Given the description of an element on the screen output the (x, y) to click on. 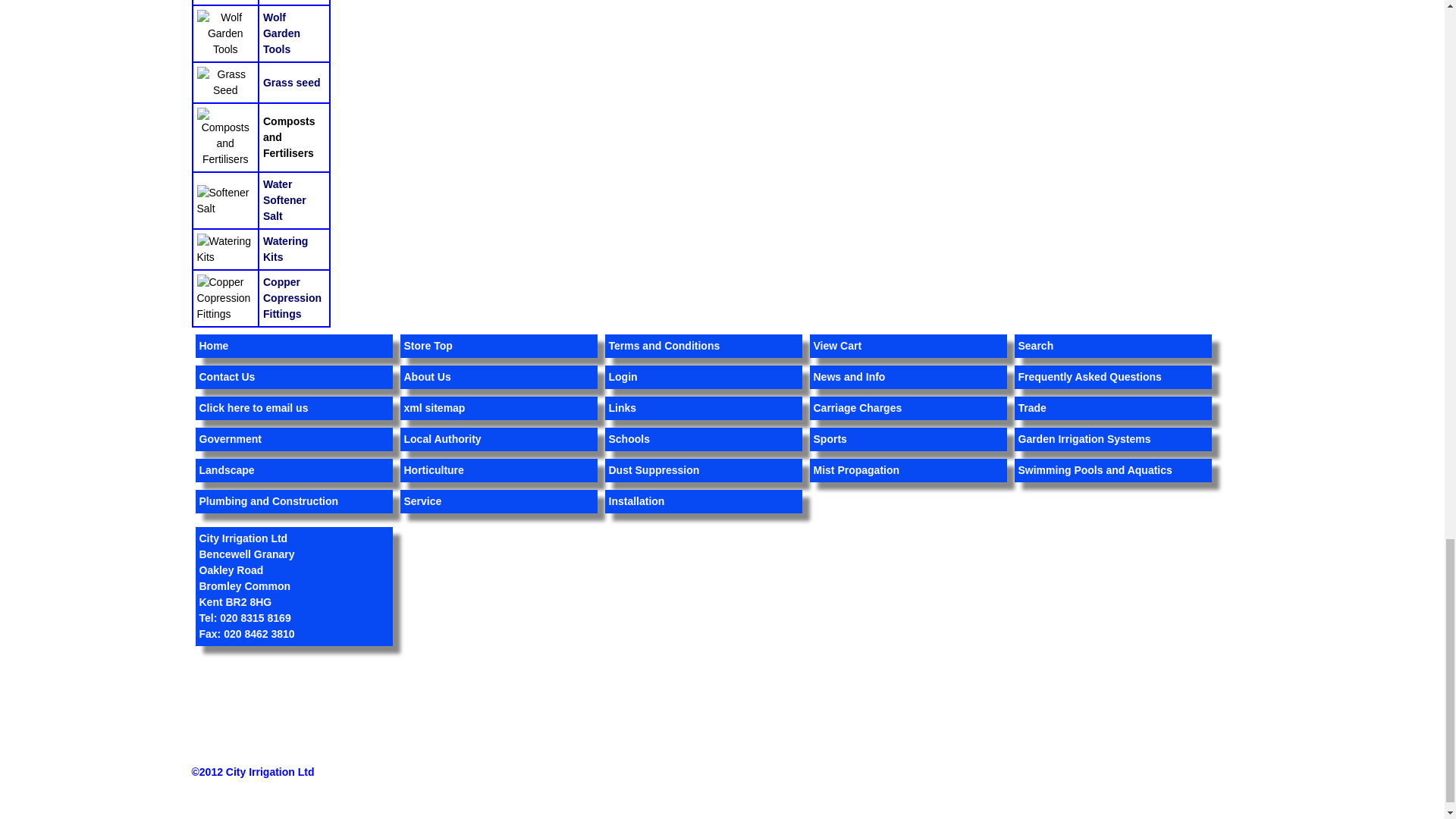
About City Irrigation Ltd (426, 377)
Home (213, 345)
